Given the description of an element on the screen output the (x, y) to click on. 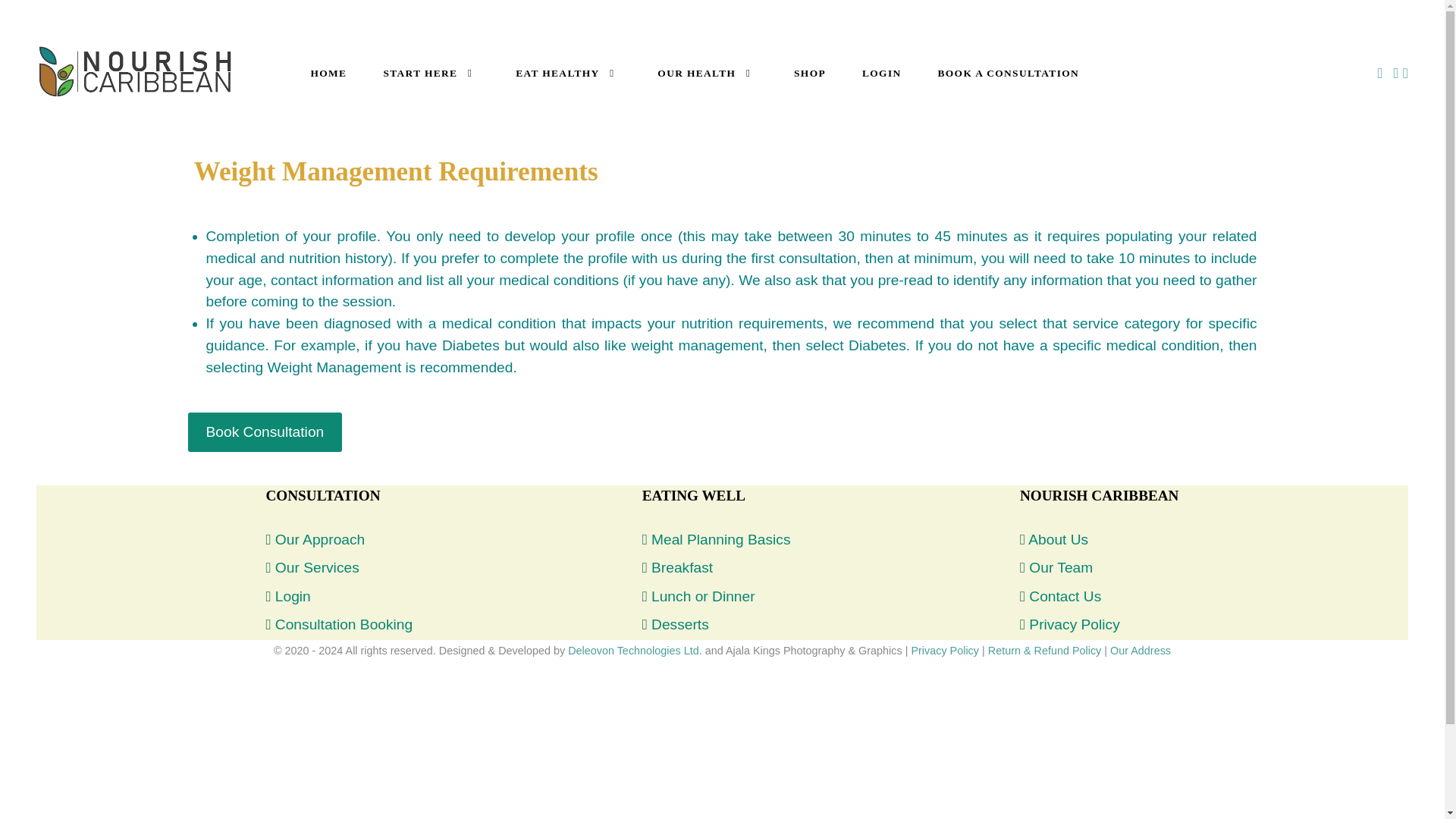
About Us (1057, 539)
LOGIN (882, 72)
Our Approach (320, 539)
Our Approach (320, 539)
BOOK A CONSULTATION (1008, 72)
Our Services (317, 567)
Desserts (679, 624)
Privacy Policy (1074, 624)
Our Team (1061, 567)
Login (293, 596)
Book Consultation (264, 432)
Lunch or Dinner (702, 596)
SHOP (810, 72)
Consultation Booking (343, 624)
